Given the description of an element on the screen output the (x, y) to click on. 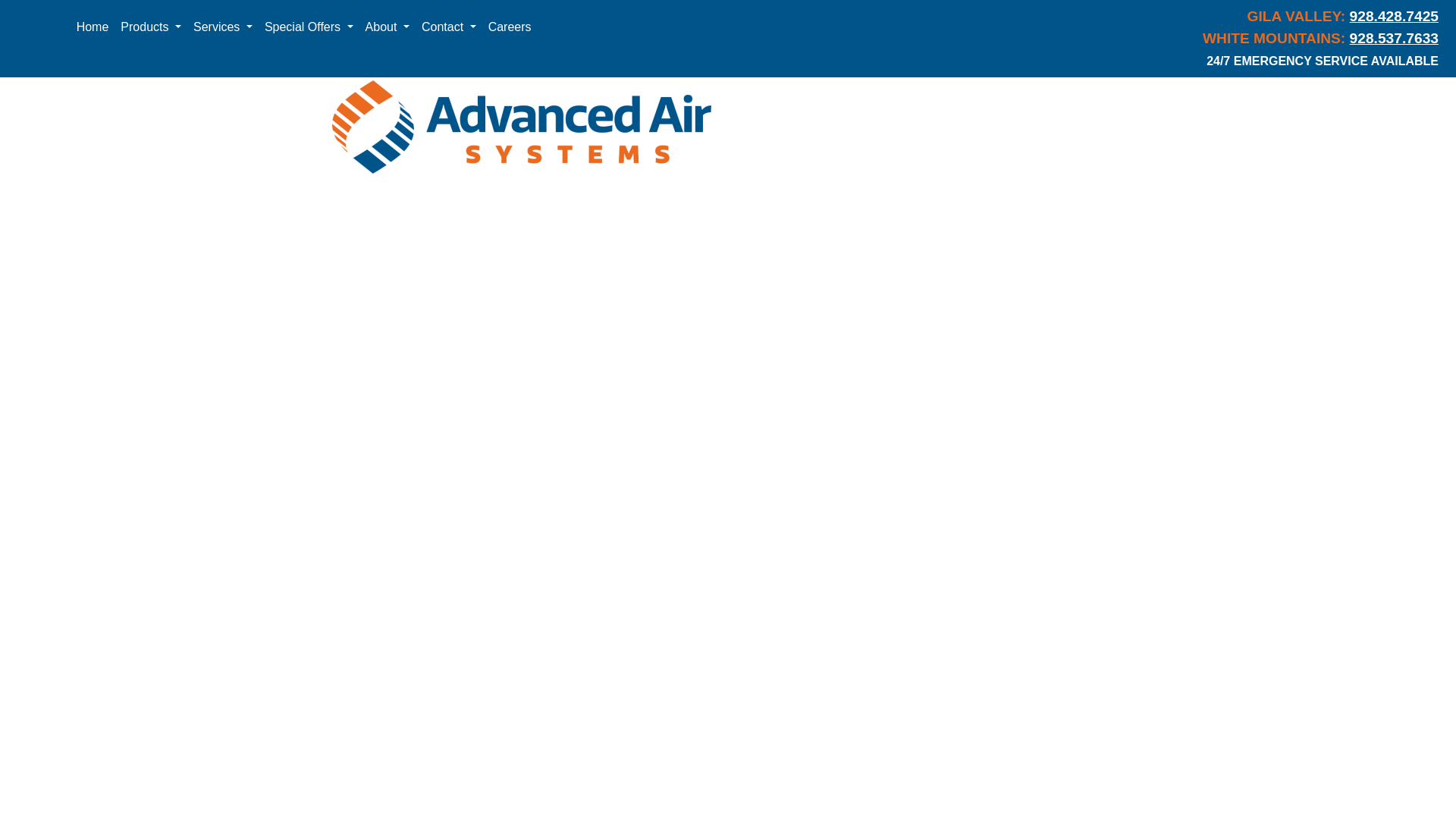
Home (92, 27)
Services (223, 27)
Products (151, 27)
